Given the description of an element on the screen output the (x, y) to click on. 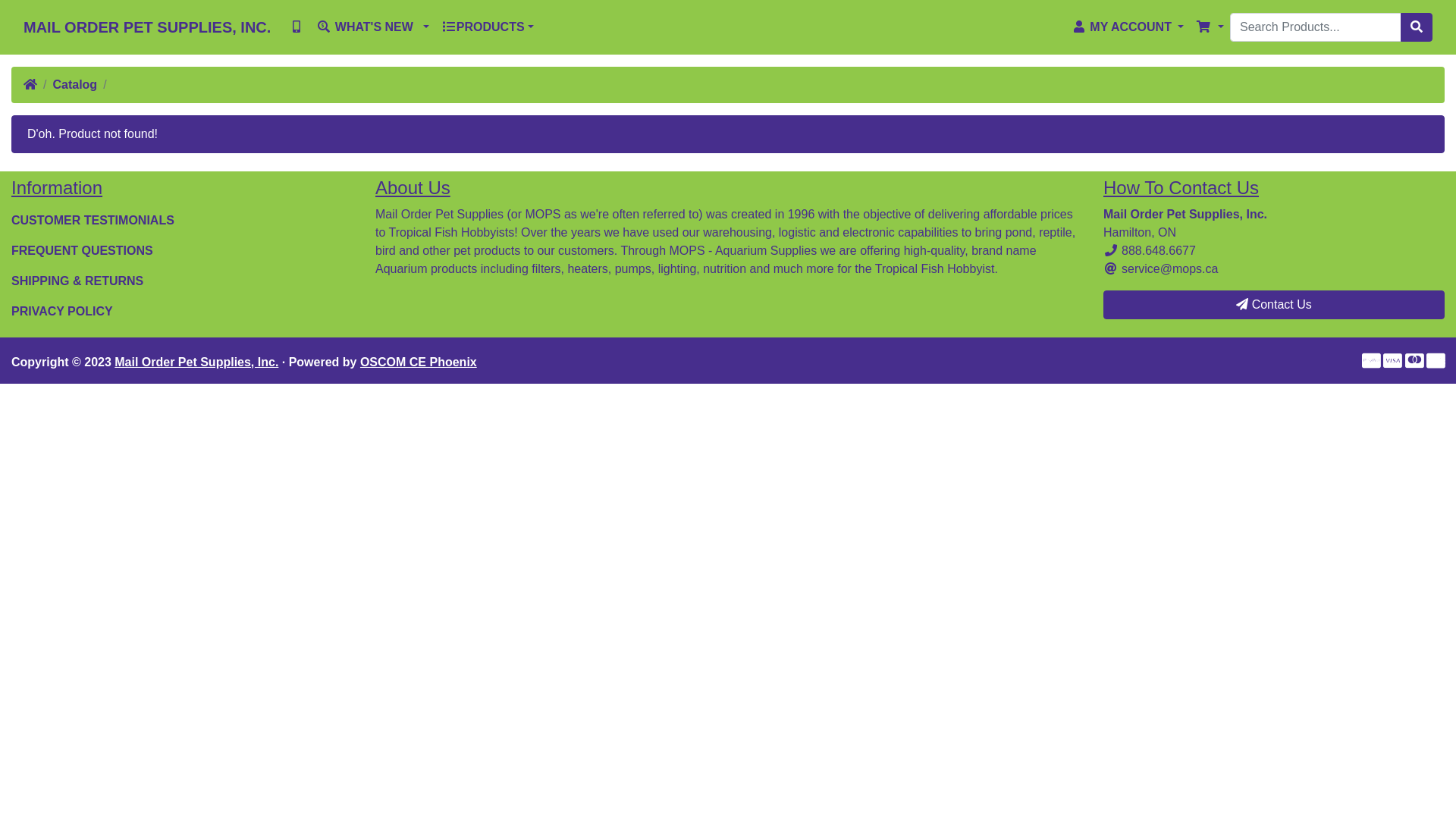
Home Element type: text (30, 84)
Contact Us Element type: text (1273, 304)
PRODUCTS Element type: text (487, 27)
MAIL ORDER PET SUPPLIES, INC. Element type: text (146, 27)
PRIVACY POLICY Element type: text (181, 311)
MY ACCOUNT Element type: text (1127, 27)
Shopping Cart Element type: hover (1203, 26)
FREQUENT QUESTIONS Element type: text (181, 250)
Telephone Element type: hover (1110, 250)
SHIPPING & RETURNS Element type: text (181, 281)
OSCOM CE Phoenix Element type: text (418, 361)
Catalog Element type: text (74, 84)
What's New Element type: hover (323, 26)
Products Element type: hover (448, 26)
Mail Order Pet Supplies, Inc. Element type: text (196, 361)
My Account Element type: hover (1078, 26)
CUSTOMER TESTIMONIALS Element type: text (181, 220)
Email Element type: hover (1110, 268)
